Given the description of an element on the screen output the (x, y) to click on. 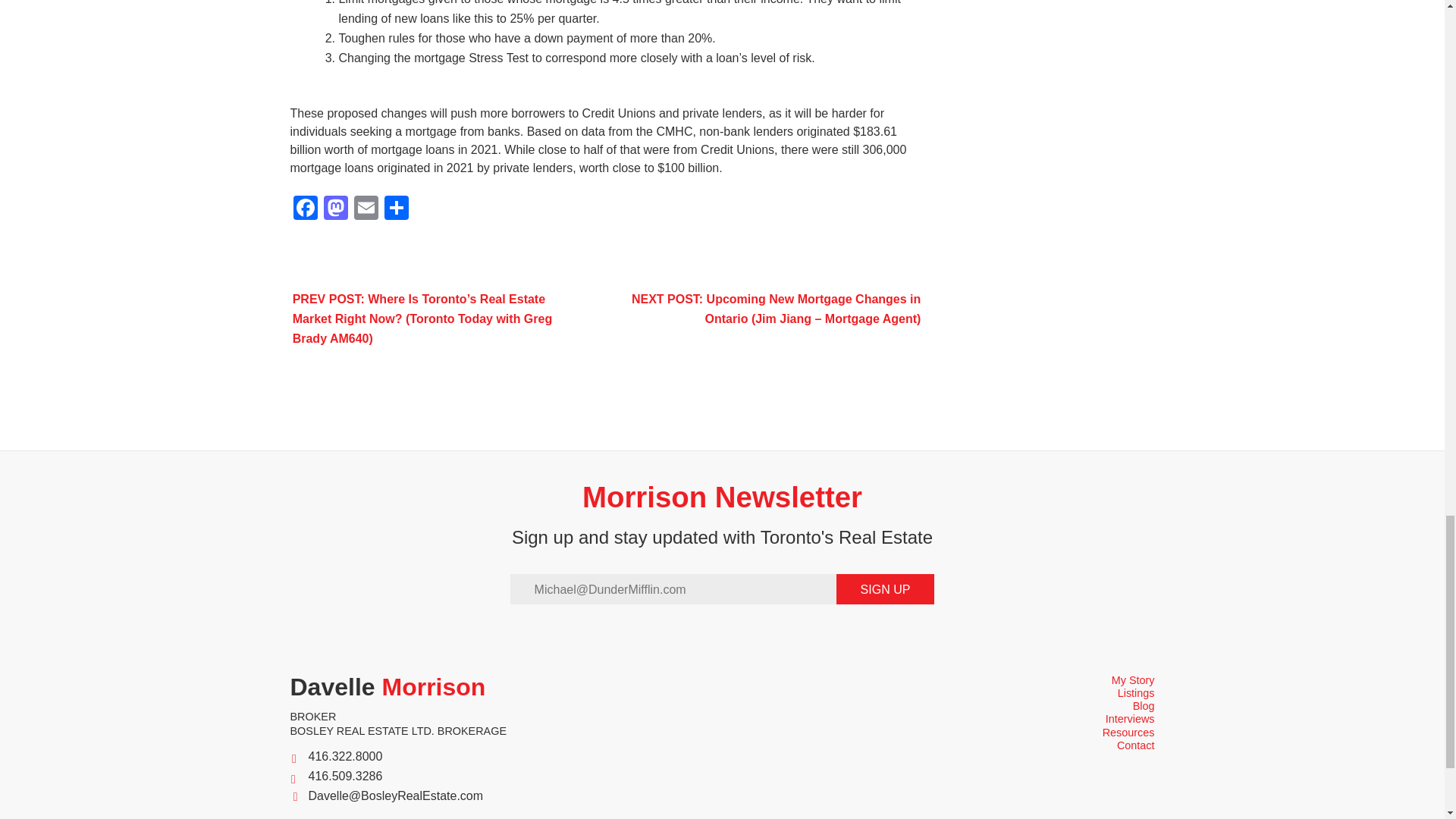
Mastodon (335, 209)
Facebook (304, 209)
SIGN UP (884, 589)
Email (365, 209)
